Given the description of an element on the screen output the (x, y) to click on. 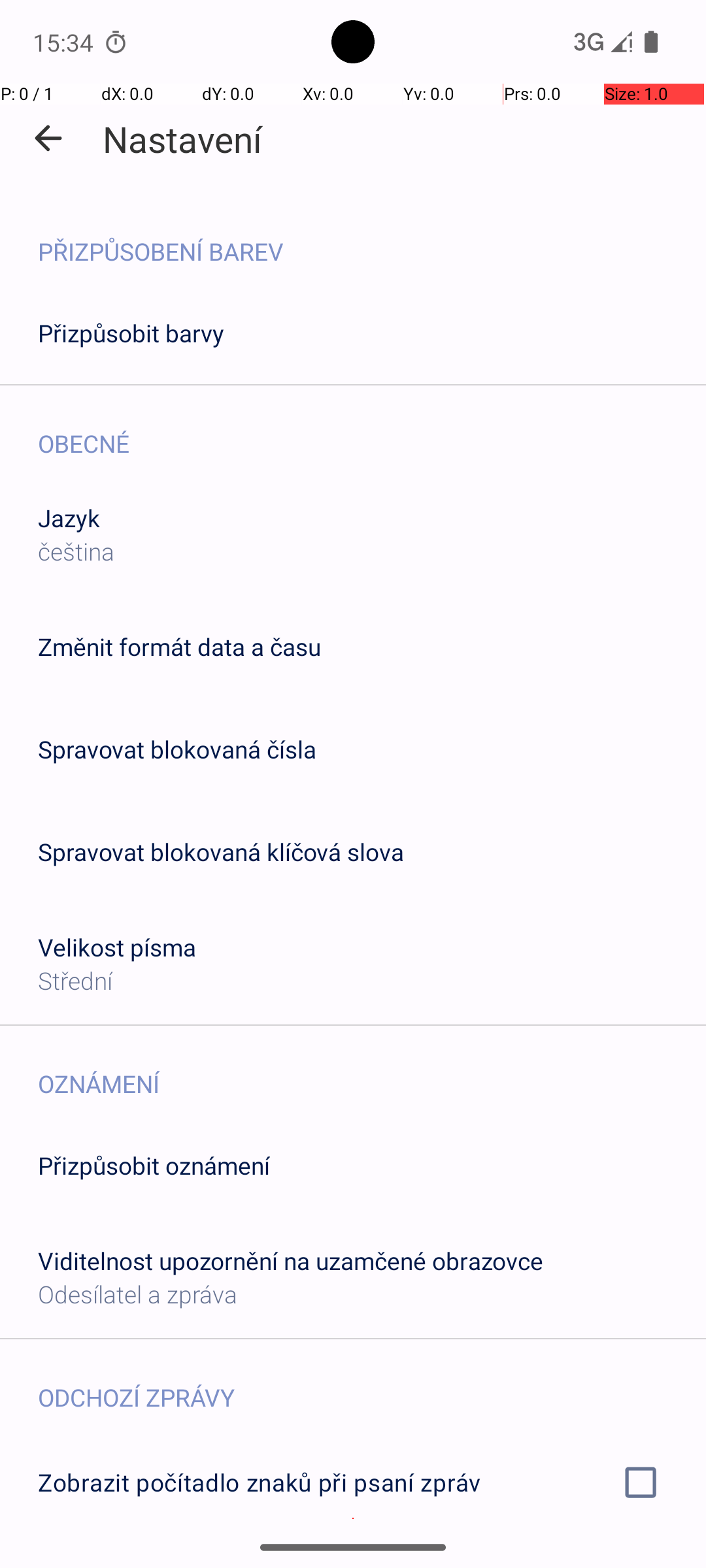
Čeština (Česko) Element type: android.widget.TextView (297, 769)
